Given the description of an element on the screen output the (x, y) to click on. 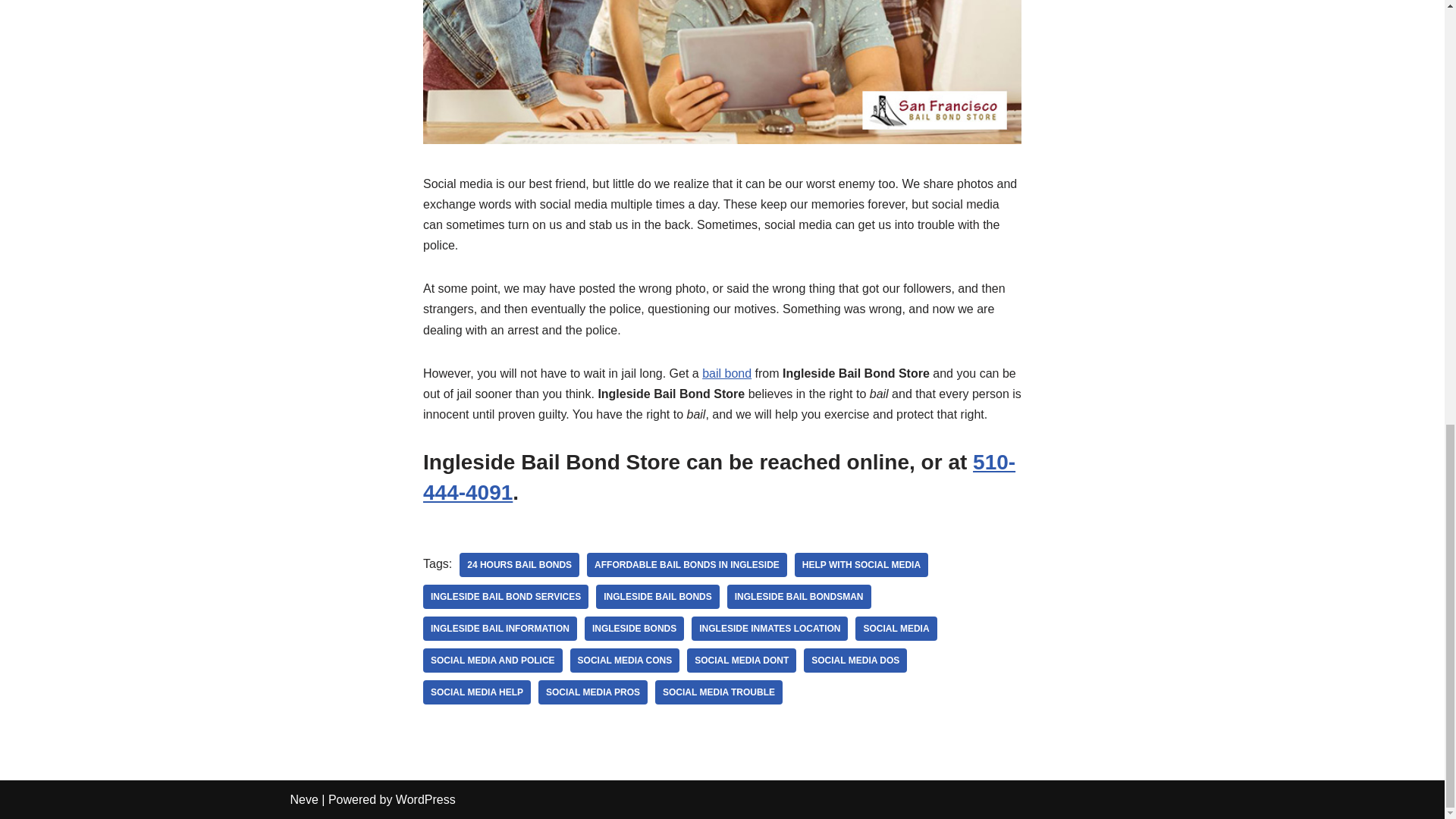
INGLESIDE BAIL BOND SERVICES (505, 596)
help with social media (861, 564)
24 hours bail bonds (519, 564)
ingleside bail information (499, 628)
social media and police (492, 660)
HELP WITH SOCIAL MEDIA (861, 564)
SOCIAL MEDIA PROS (592, 692)
24 HOURS BAIL BONDS (519, 564)
AFFORDABLE BAIL BONDS IN INGLESIDE (686, 564)
SOCIAL MEDIA TROUBLE (719, 692)
INGLESIDE BAIL BONDSMAN (798, 596)
INGLESIDE INMATES LOCATION (769, 628)
social media (896, 628)
ingleside bail bonds (657, 596)
Neve (303, 799)
